Given the description of an element on the screen output the (x, y) to click on. 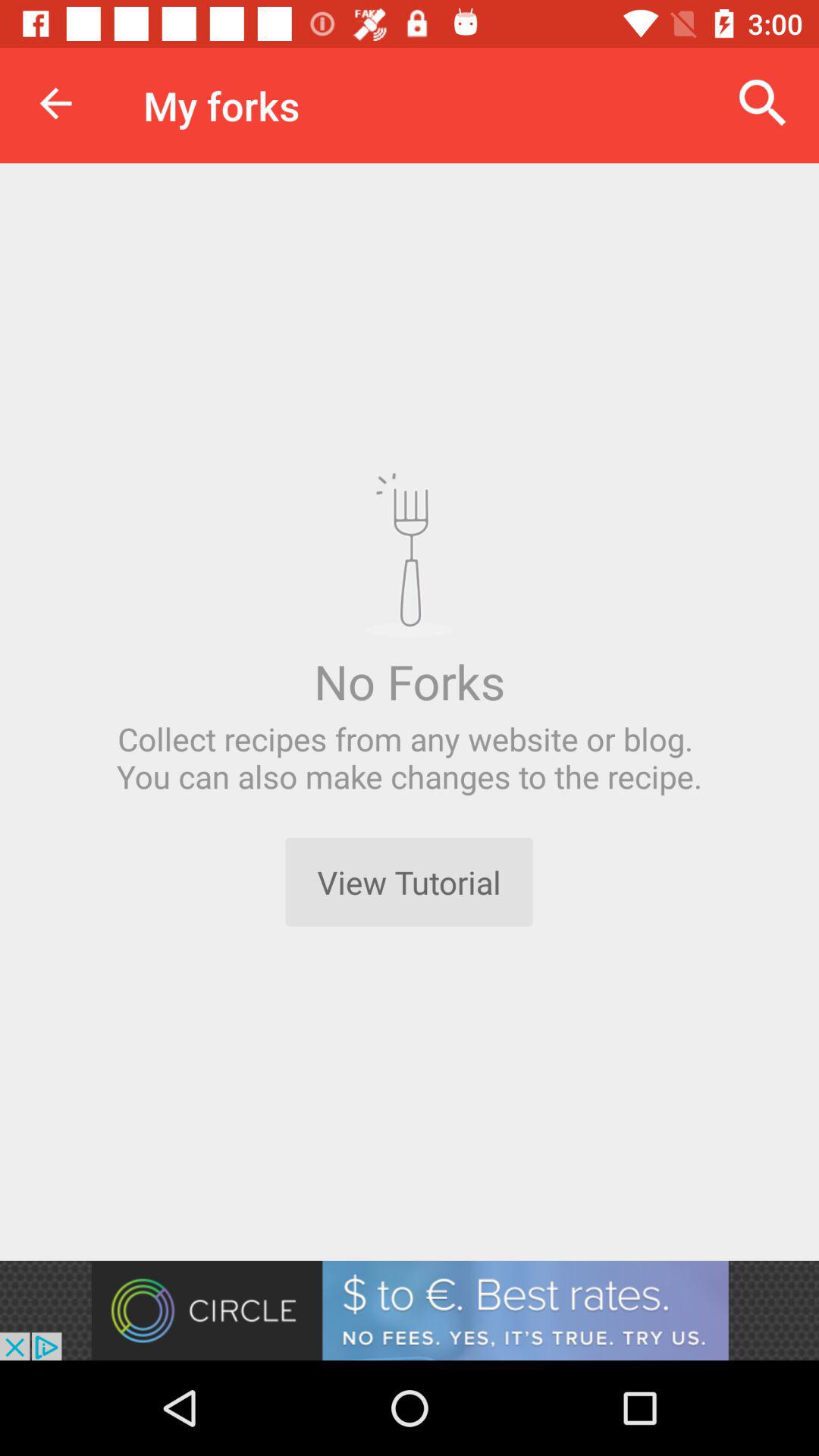
select advertisement (409, 1310)
